Given the description of an element on the screen output the (x, y) to click on. 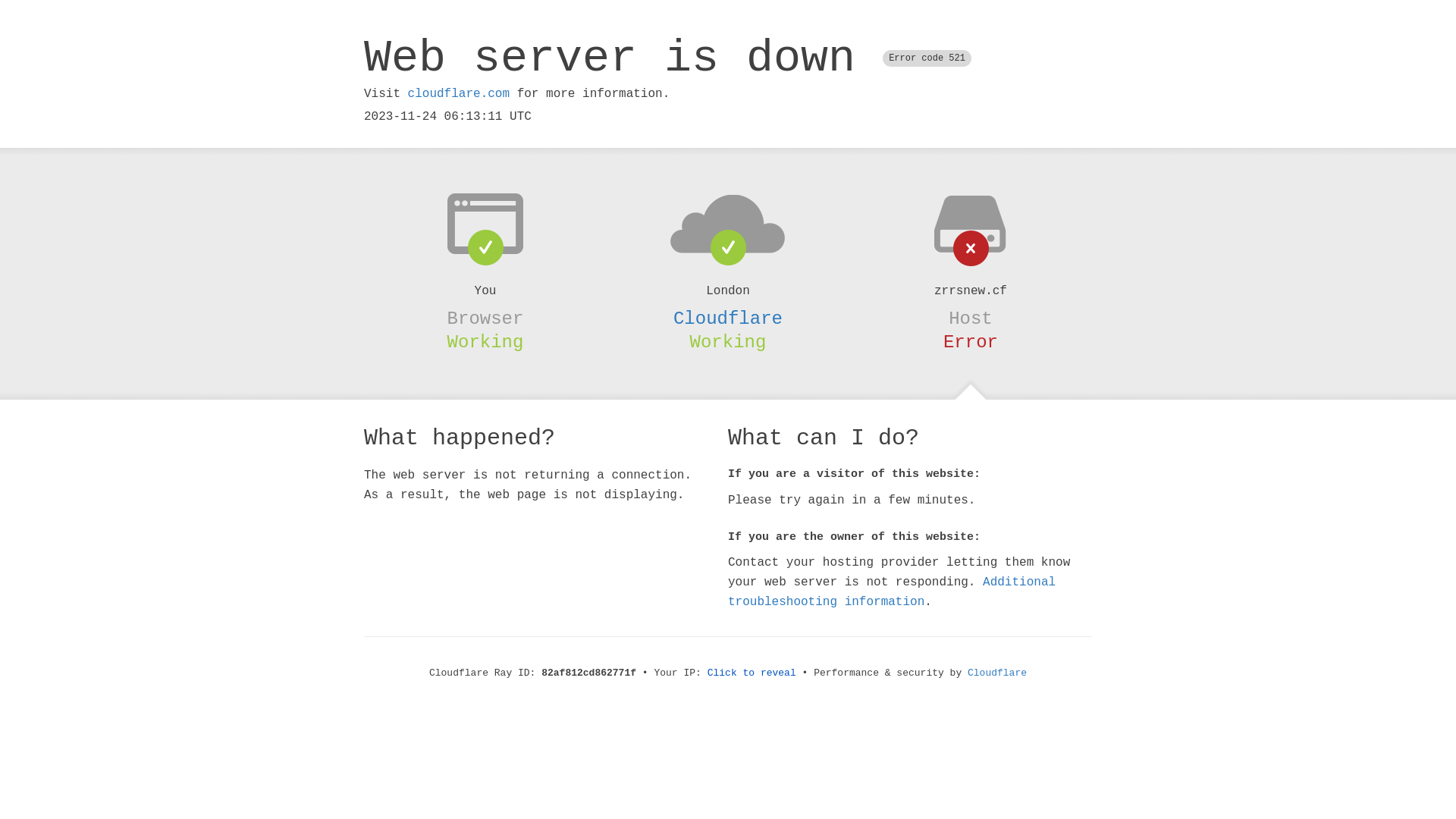
cloudflare.com Element type: text (458, 93)
Additional troubleshooting information Element type: text (891, 591)
Cloudflare Element type: text (996, 672)
Click to reveal Element type: text (751, 672)
Cloudflare Element type: text (727, 318)
